Given the description of an element on the screen output the (x, y) to click on. 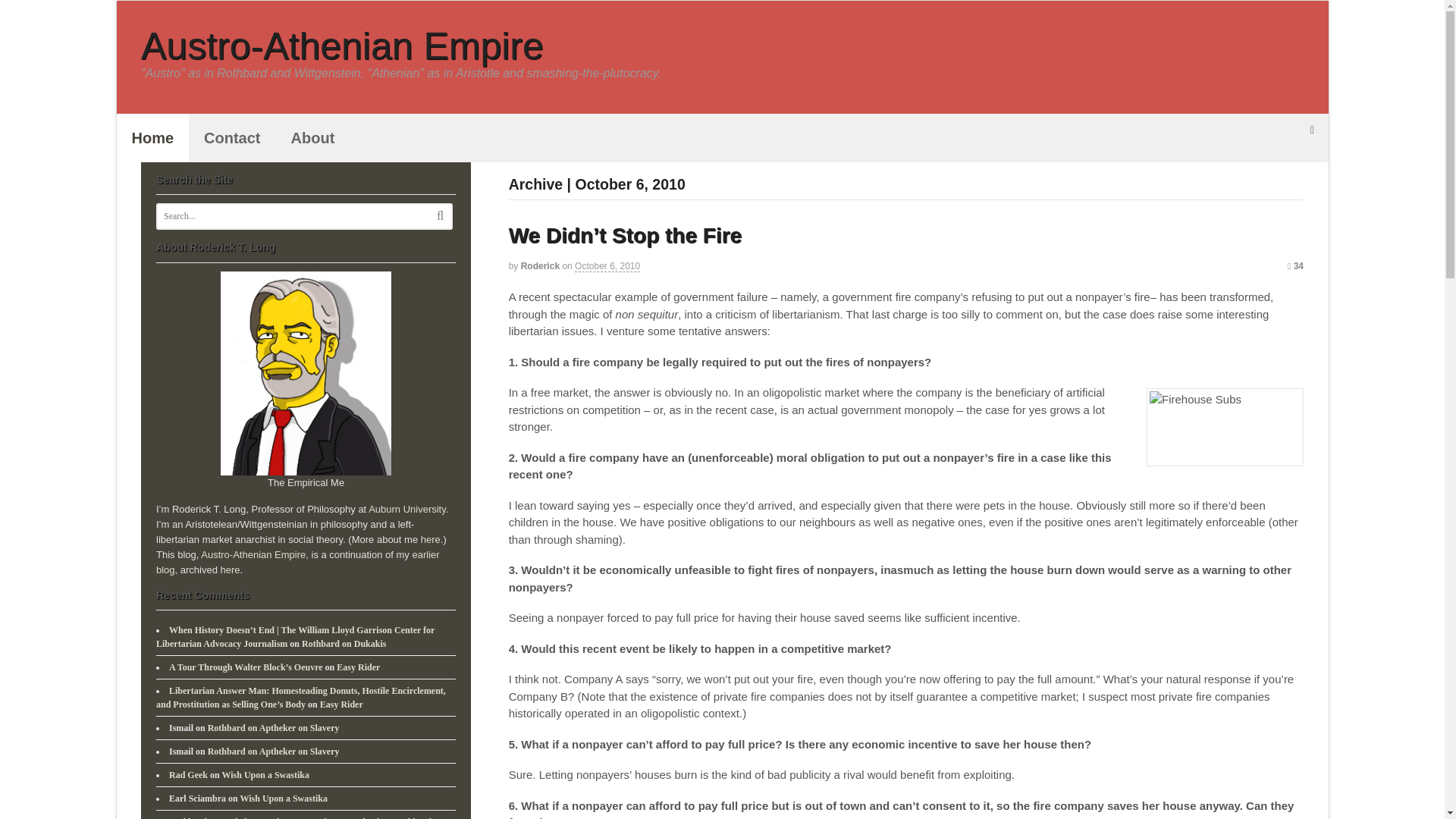
Auburn University. (408, 509)
Rad Geek (188, 774)
Firehouse Subs (1225, 427)
Wish Upon a Swastika (283, 798)
Easy Rider (341, 704)
here (230, 569)
Wish Upon a Swastika (264, 774)
Rothbard on Aptheker on Slavery (273, 727)
Rothbard on Aptheker on Slavery (273, 751)
Home (152, 137)
earlier blog (297, 561)
Austro-Athenian Empire (252, 554)
here (430, 539)
Contact (232, 137)
